Given the description of an element on the screen output the (x, y) to click on. 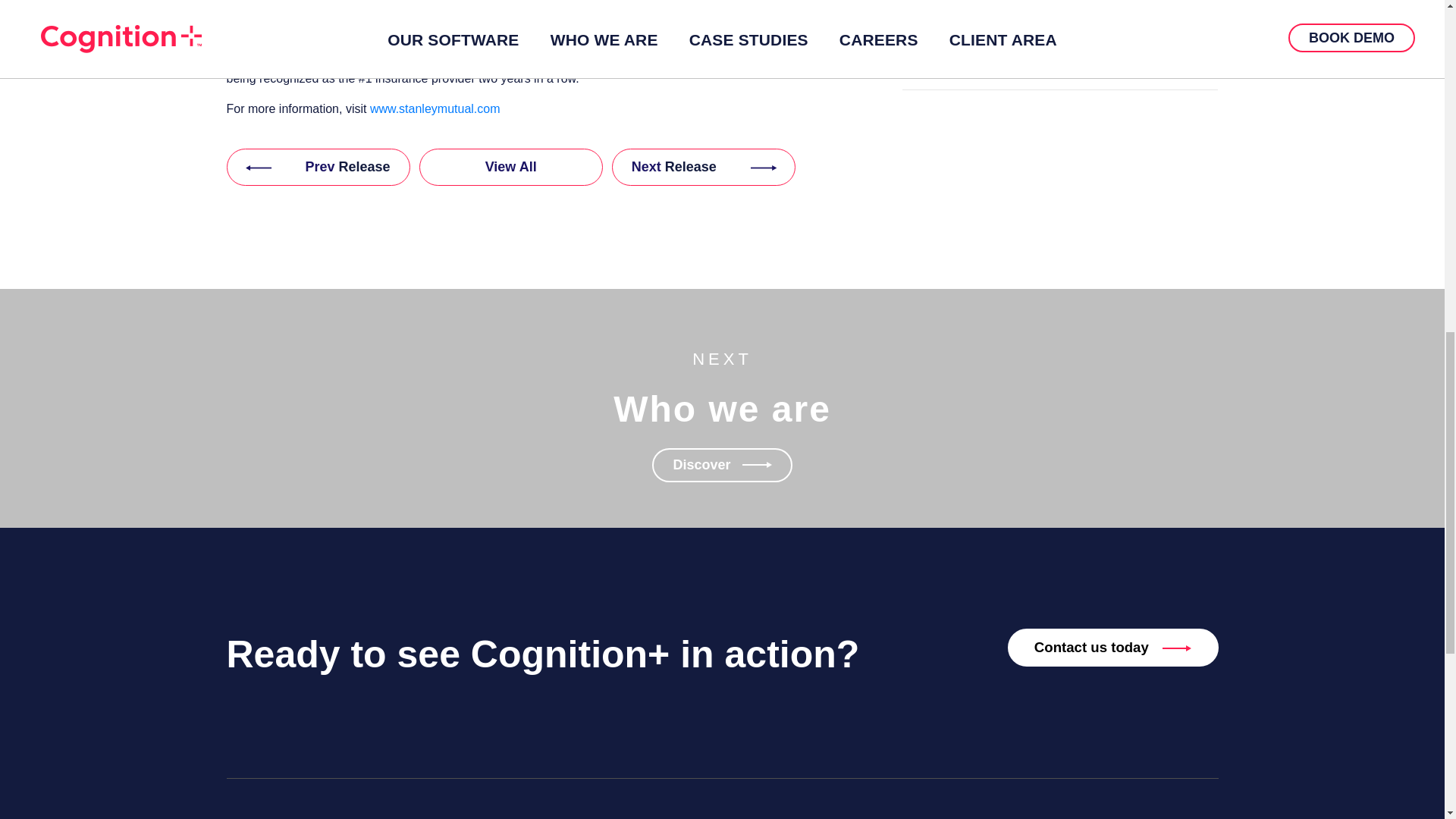
Contact us today  (836, 283)
Discover (722, 464)
View All (510, 166)
www.stanleymutual.com (434, 108)
READ MORE (1059, 61)
Next Release  (702, 166)
 Prev Release (317, 166)
